Given the description of an element on the screen output the (x, y) to click on. 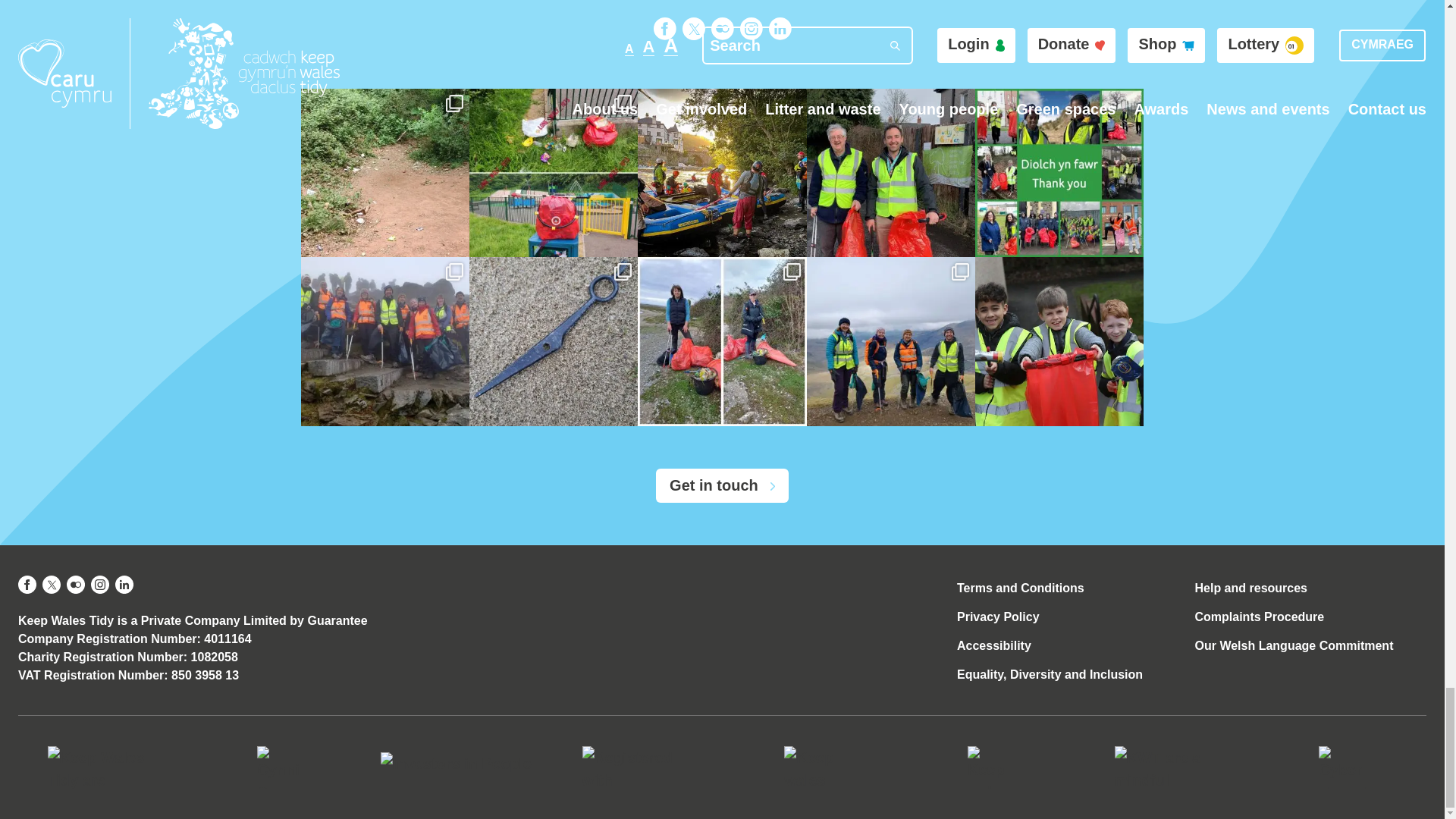
Facebook (26, 584)
LinkedIn (780, 28)
Flickr (75, 584)
Facebook (665, 28)
Instagram (750, 28)
LinkedIn (124, 584)
Flickr (722, 28)
Twitter (693, 28)
Instagram (99, 584)
Twitter (51, 584)
